Given the description of an element on the screen output the (x, y) to click on. 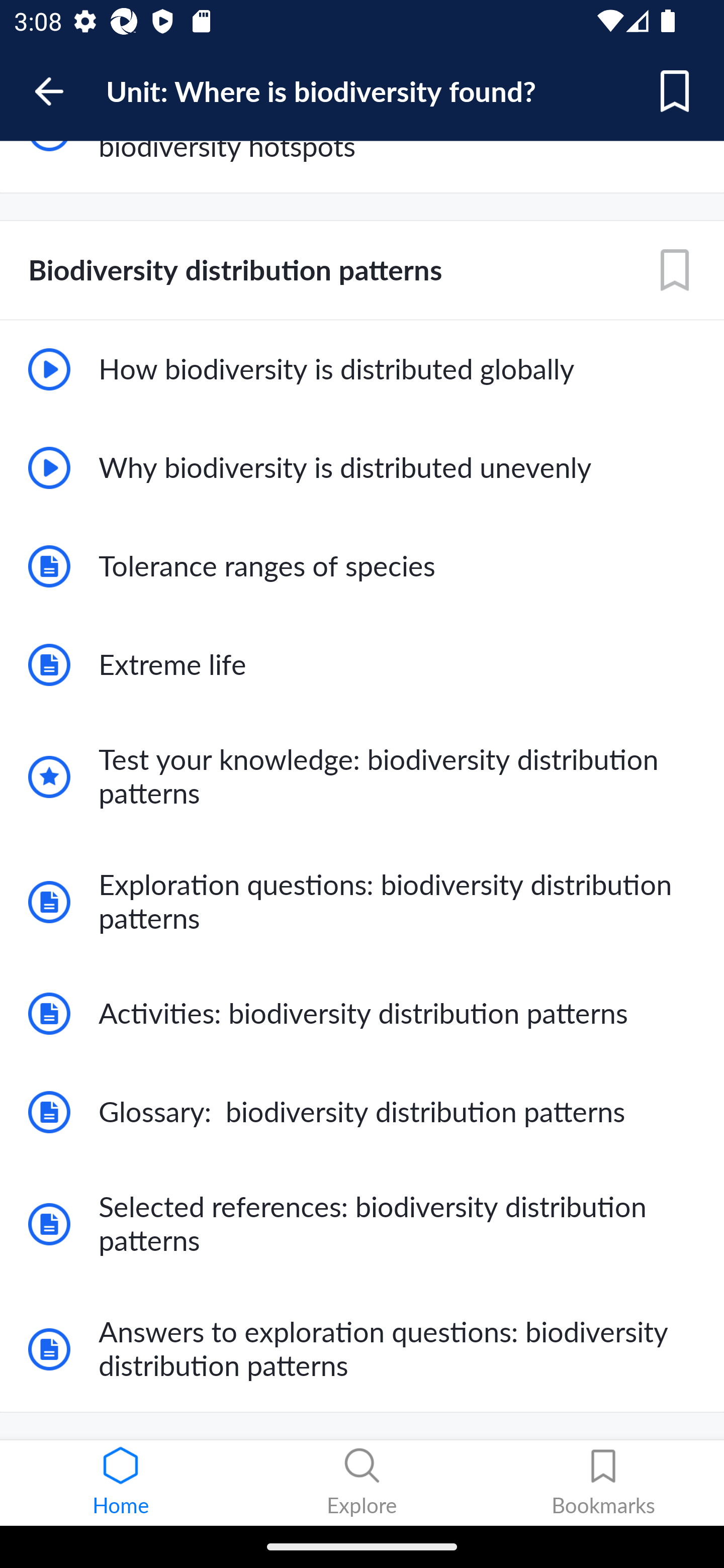
Back (58, 91)
Add Bookmark (674, 91)
Add Bookmark (674, 270)
How biodiversity is distributed globally (362, 368)
Why biodiversity is distributed unevenly (362, 467)
Tolerance ranges of species (362, 566)
Extreme life (362, 664)
Activities: biodiversity distribution patterns (362, 1013)
Glossary:  biodiversity distribution patterns (362, 1112)
Home (120, 1482)
Explore (361, 1482)
Bookmarks (603, 1482)
